Given the description of an element on the screen output the (x, y) to click on. 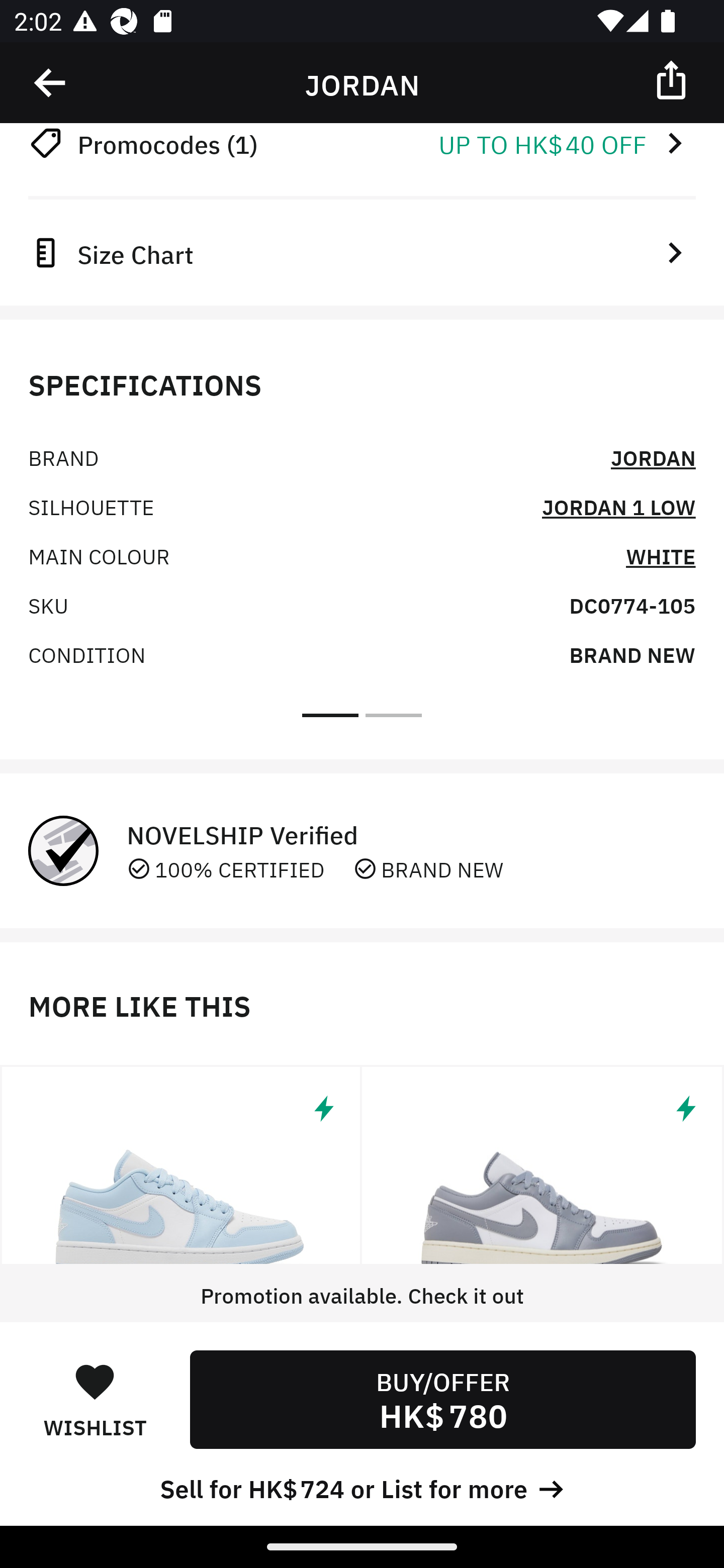
 (50, 83)
 (672, 79)
Promocodes (1) UP TO HK$ 40 OFF  (361, 143)
Size Chart  (361, 252)
JORDAN (653, 457)
JORDAN 1 LOW (618, 506)
WHITE (660, 554)
DC0774-105 (632, 604)
BRAND NEW (632, 653)
 (181, 1164)
 (543, 1164)
BUY/OFFER HK$ 780 (442, 1399)
󰋑 (94, 1380)
Sell for HK$ 724 or List for more (361, 1486)
